Given the description of an element on the screen output the (x, y) to click on. 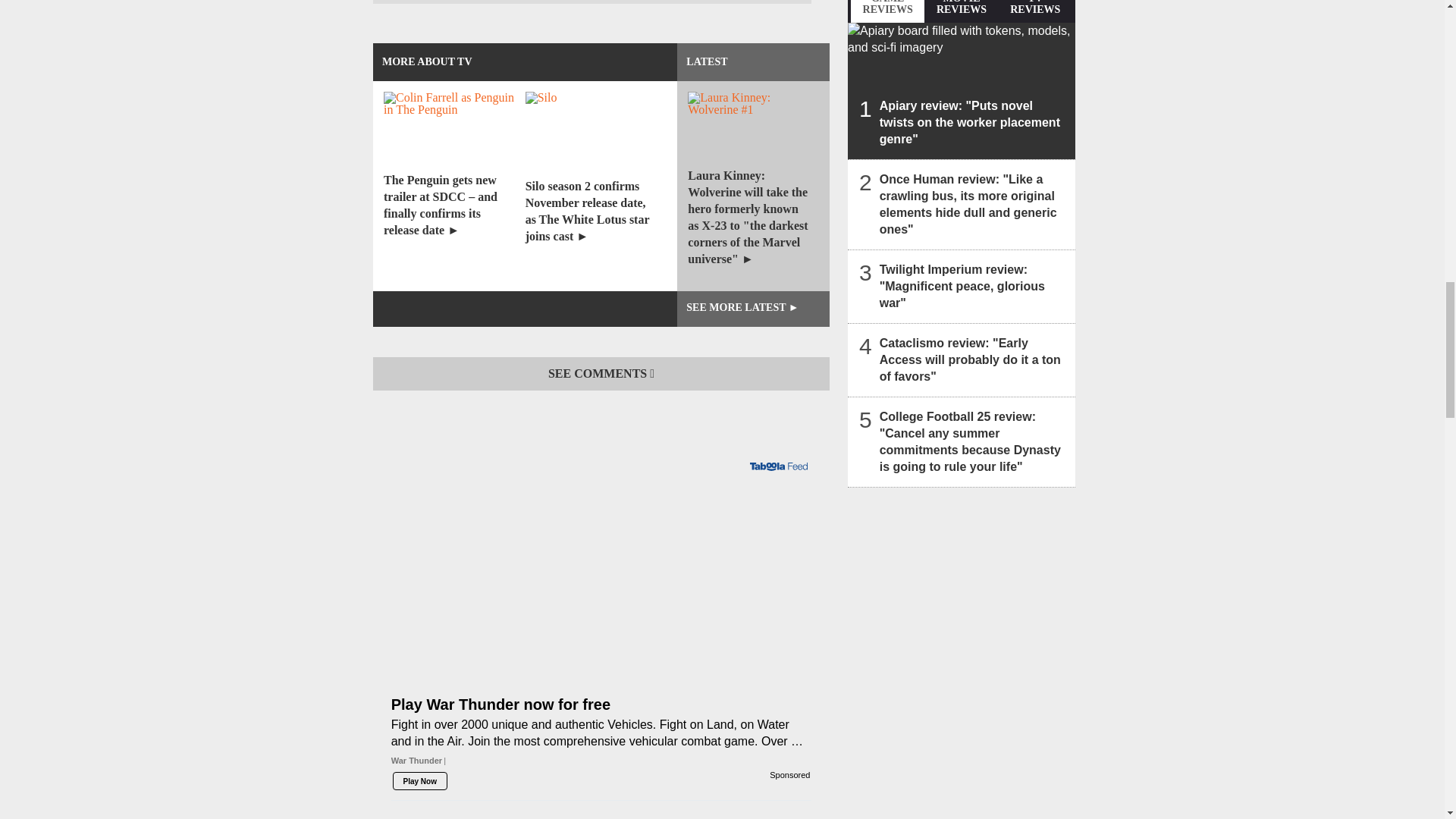
Play War Thunder now for free (600, 585)
Play War Thunder now for free (600, 736)
